Given the description of an element on the screen output the (x, y) to click on. 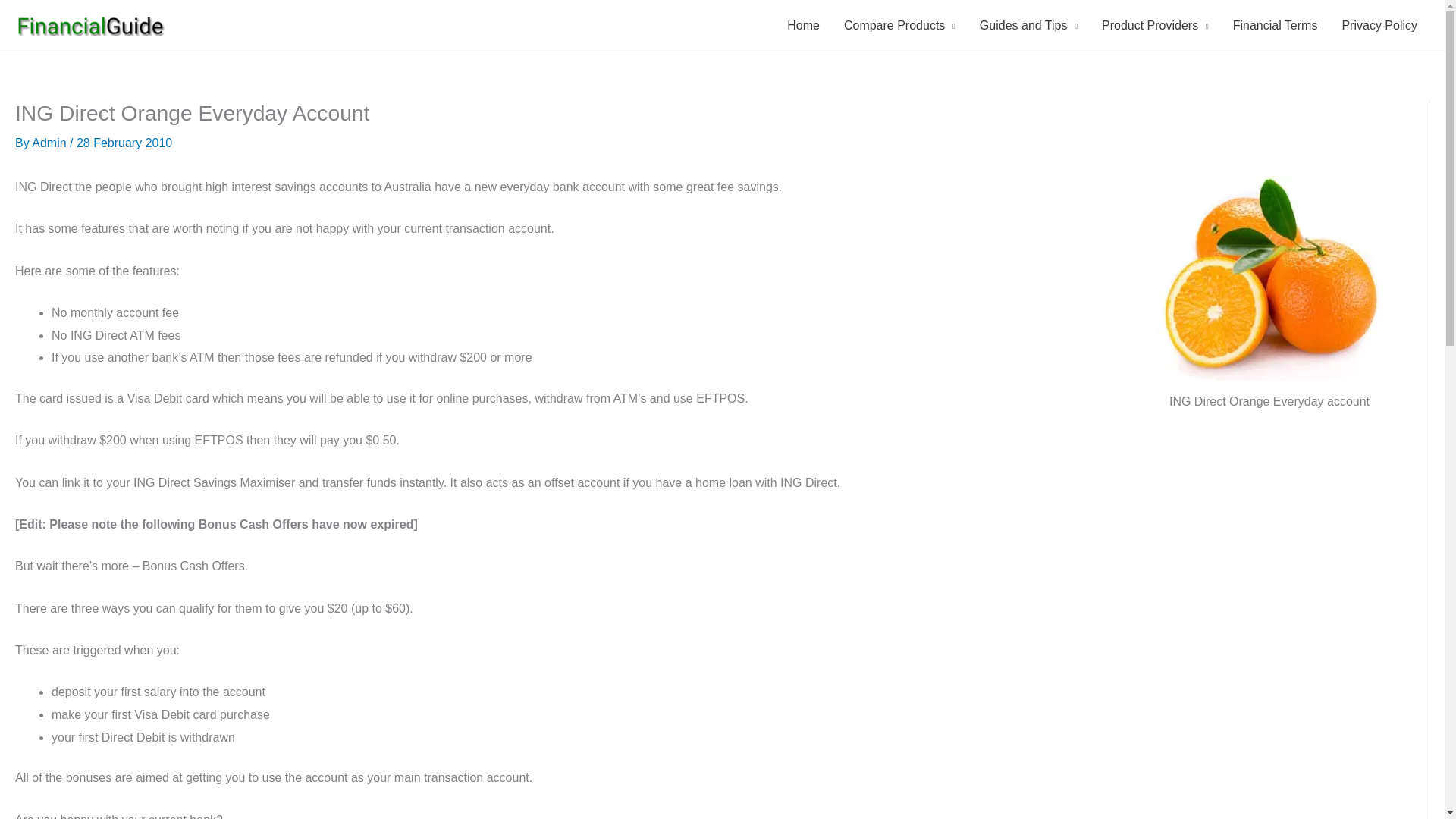
Product Providers (1155, 25)
Home (802, 25)
ING Direct Orange Everyday account (1269, 278)
Guides and Tips (1028, 25)
View all posts by Admin (50, 142)
Compare Products (899, 25)
